Given the description of an element on the screen output the (x, y) to click on. 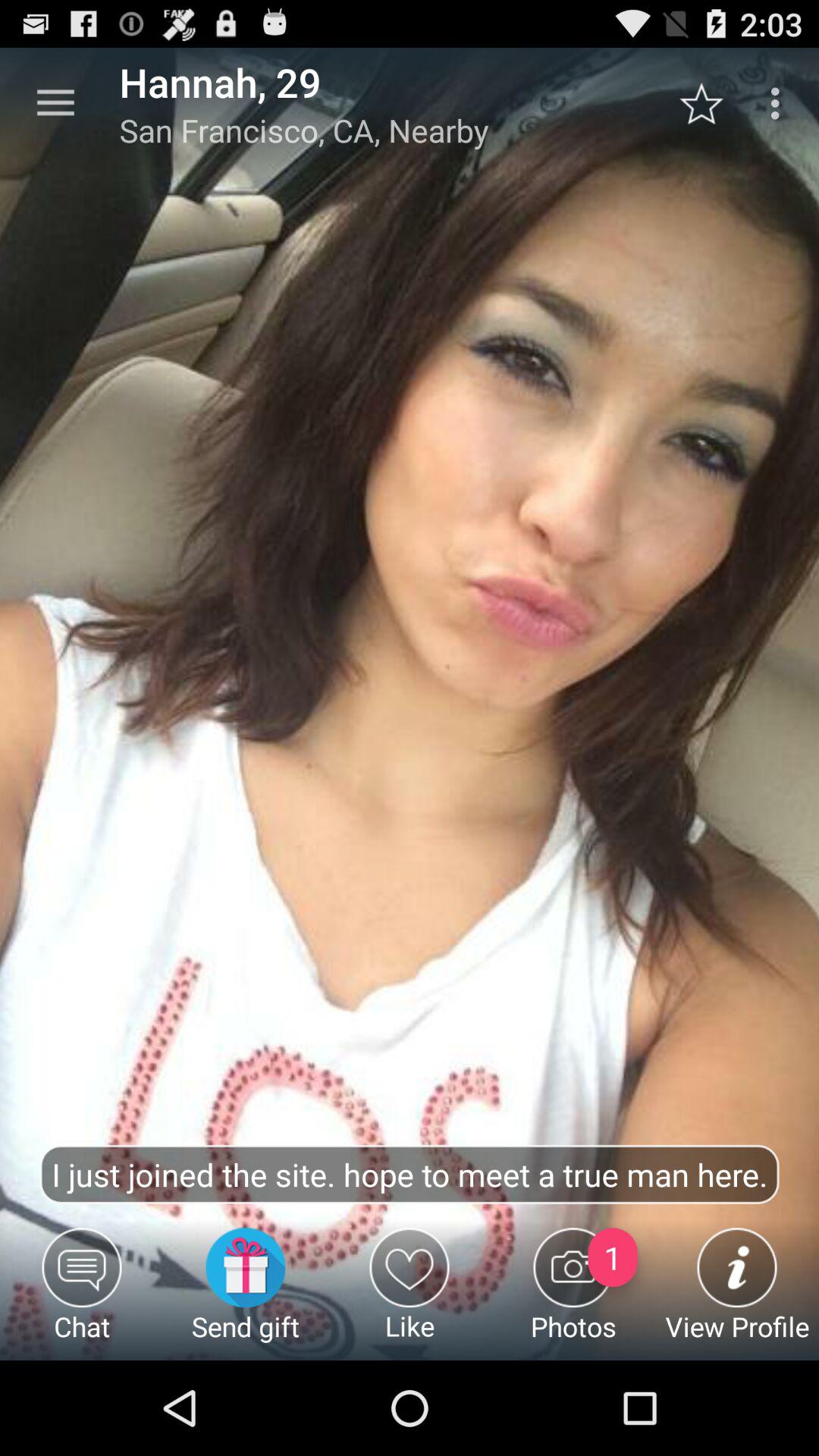
open the item next to the hannah, 29 icon (55, 103)
